Given the description of an element on the screen output the (x, y) to click on. 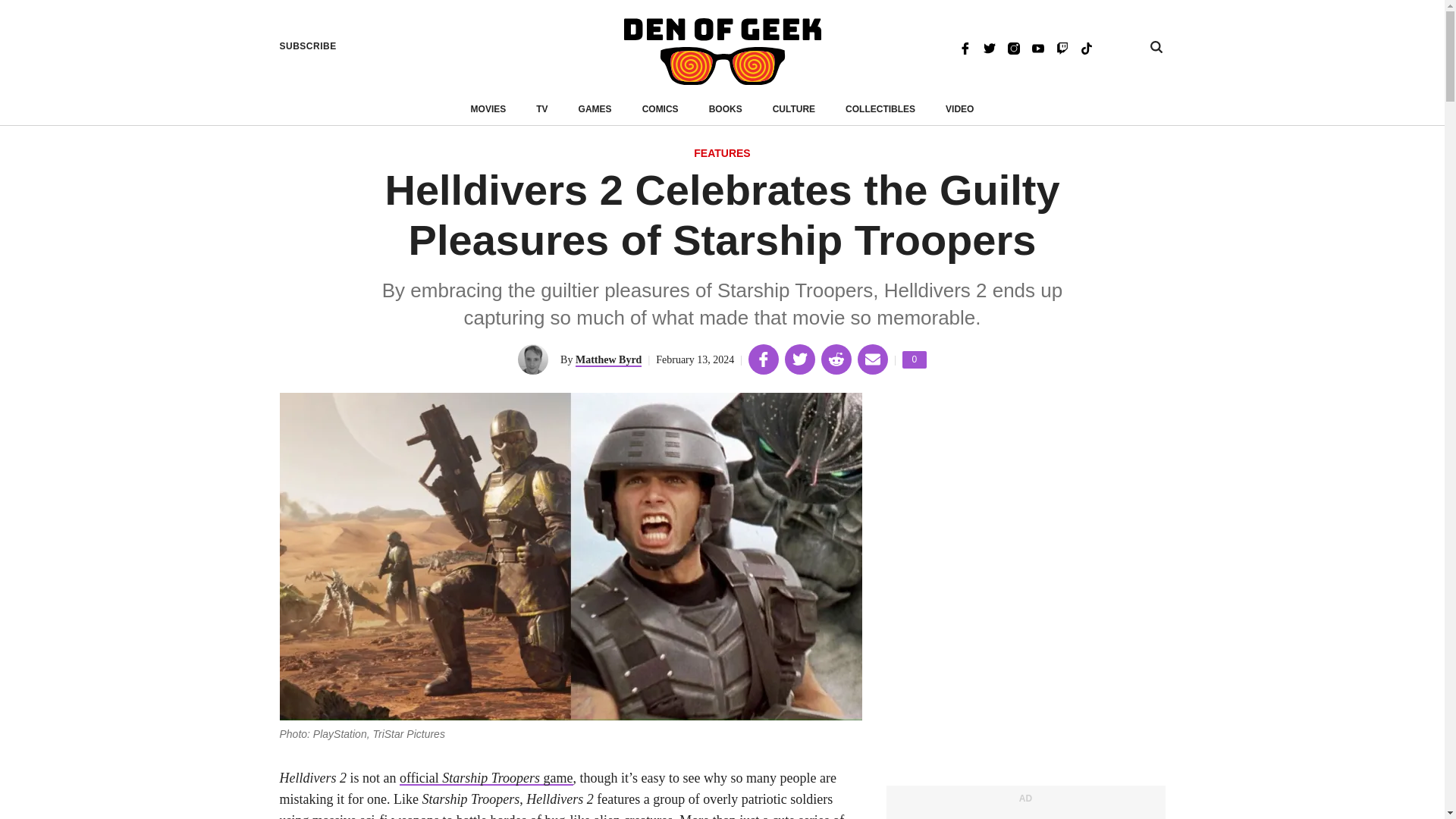
CULTURE (794, 109)
Twitch (1061, 46)
BOOKS (725, 109)
TikTok (914, 359)
Den of Geek (1085, 46)
COLLECTIBLES (722, 52)
VIDEO (880, 109)
COMICS (959, 109)
GAMES (660, 109)
FEATURES (594, 109)
MOVIES (721, 153)
Matthew Byrd (488, 109)
official Starship Troopers game (608, 359)
Instagram (485, 777)
